Given the description of an element on the screen output the (x, y) to click on. 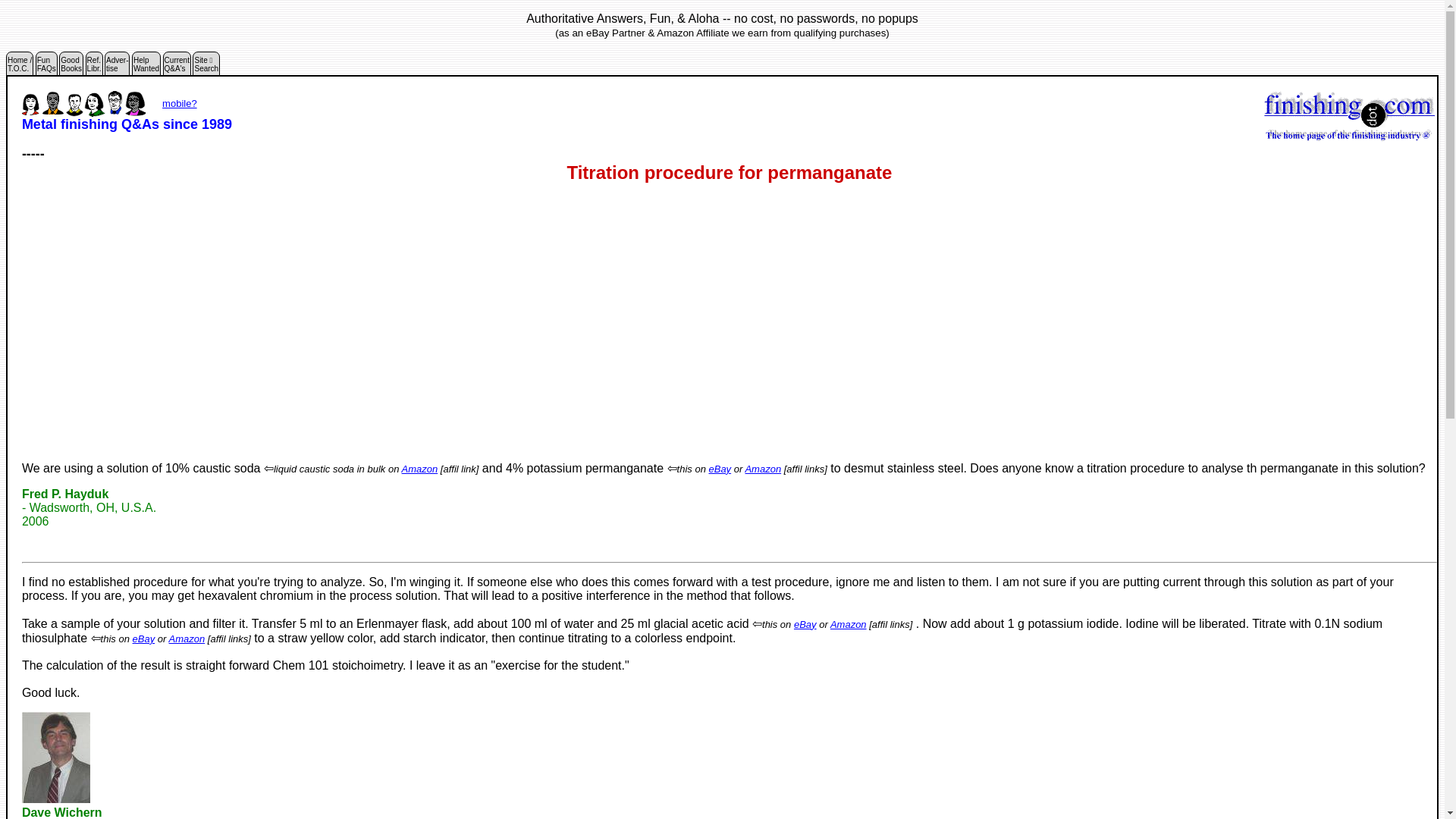
eBay (804, 624)
The finishing.com Hotline public forum (94, 66)
Frequently asked questions about Metal Finishing (146, 66)
On-line library of metal finishing articles (176, 66)
Advertisement (46, 66)
Advertise on the world's premier metal finishing site (94, 66)
Amazon (46, 66)
